Given the description of an element on the screen output the (x, y) to click on. 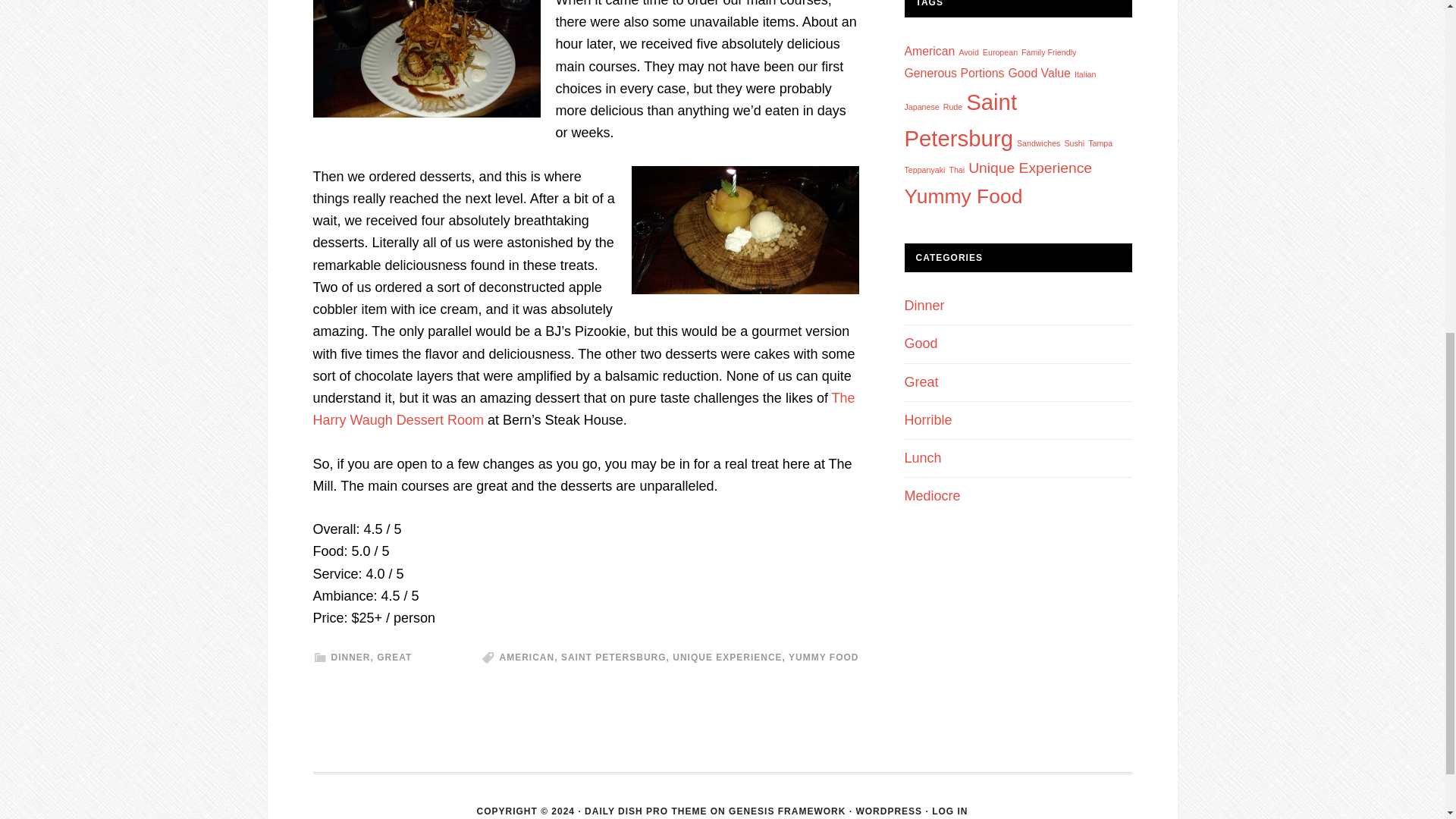
Unique Experience (1030, 167)
Tampa (1099, 143)
YUMMY FOOD (824, 656)
Sushi (1074, 143)
Rude (952, 106)
Good Value (1039, 72)
Yummy Food (963, 196)
Family Friendly (1048, 51)
Saint Petersburg (960, 119)
Avoid (968, 51)
The Harry Waugh Dessert Room (583, 408)
Thai (956, 169)
GREAT (394, 656)
Generous Portions (954, 72)
AMERICAN (526, 656)
